Given the description of an element on the screen output the (x, y) to click on. 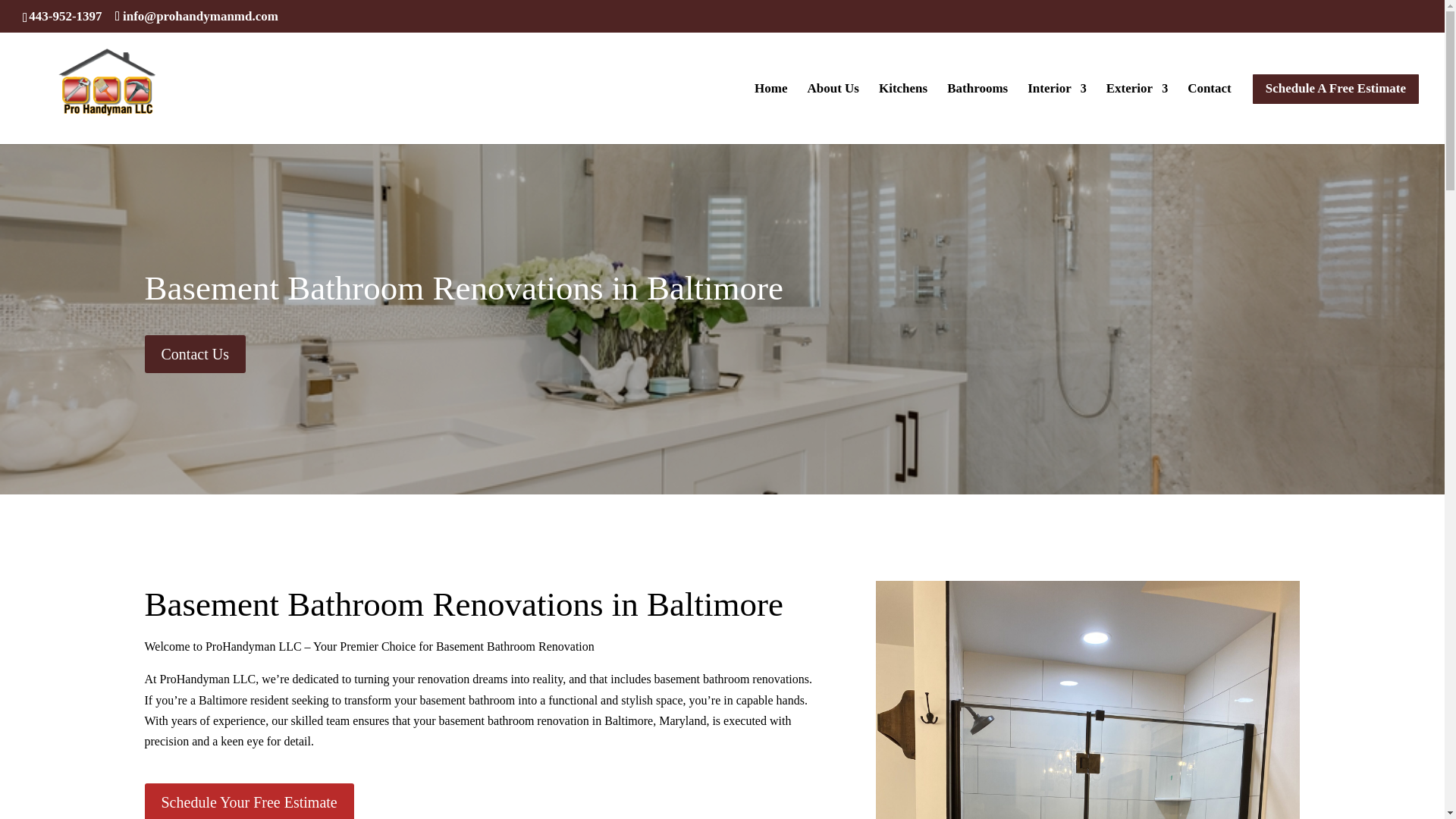
Exterior (1136, 107)
About Us (832, 107)
Schedule A Free Estimate (1335, 108)
Kitchens (903, 107)
Interior (1056, 107)
Contact (1209, 107)
Bathrooms (977, 107)
